Given the description of an element on the screen output the (x, y) to click on. 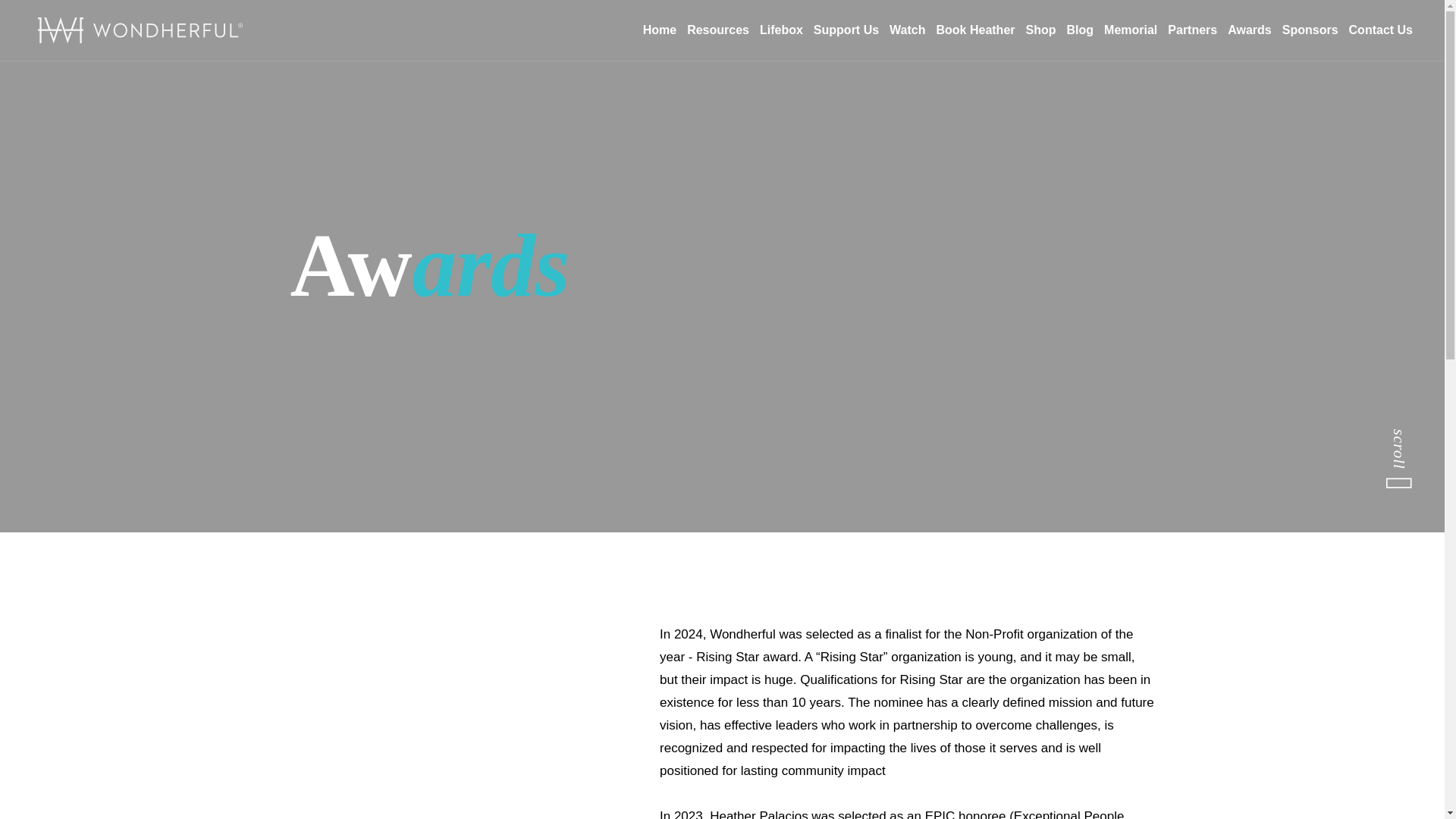
Resources (718, 30)
Support Us (846, 30)
Book Heather (975, 30)
LIVE DESIGN (1120, 743)
scroll (1411, 447)
Sponsors (1310, 30)
Contact Us (1380, 30)
scroll (1411, 447)
